Given the description of an element on the screen output the (x, y) to click on. 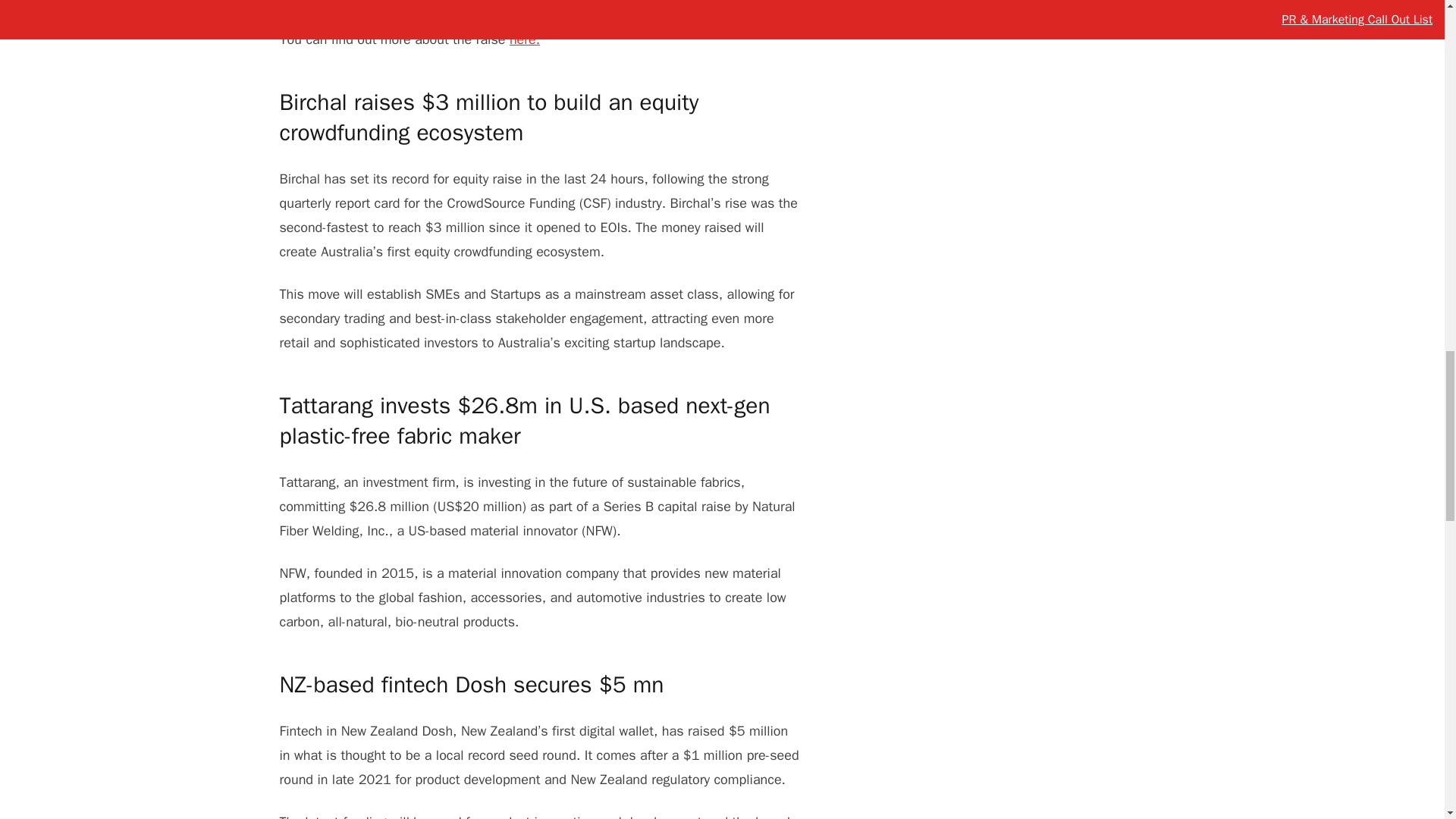
here. (524, 39)
